Given the description of an element on the screen output the (x, y) to click on. 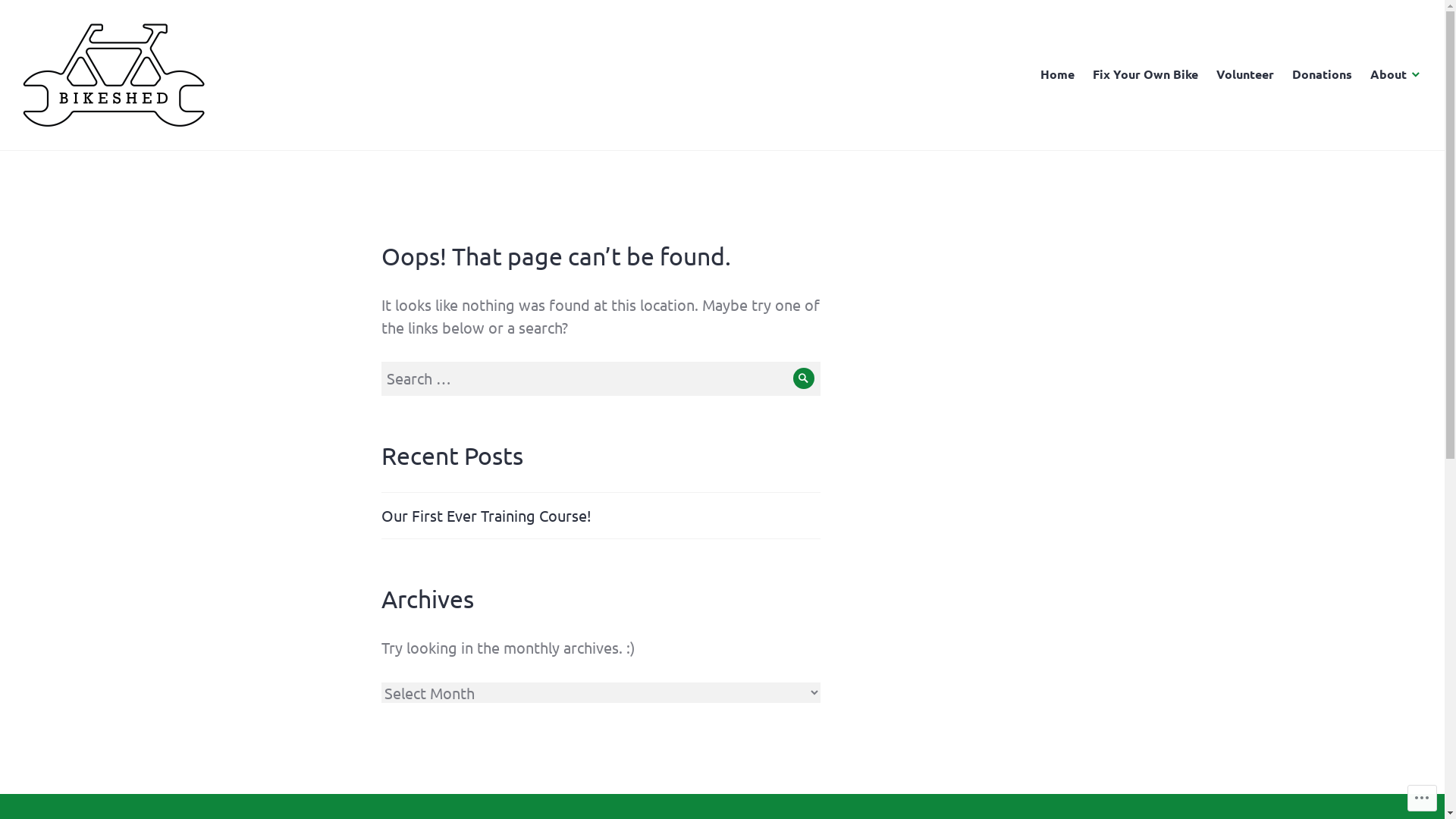
The Bike Shed Element type: text (82, 148)
Fix Your Own Bike Element type: text (1145, 74)
About Element type: text (1395, 74)
Donations Element type: text (1322, 74)
Volunteer Element type: text (1245, 74)
Our First Ever Training Course! Element type: text (485, 514)
Home Element type: text (1057, 74)
Search for: Element type: hover (600, 377)
